Given the description of an element on the screen output the (x, y) to click on. 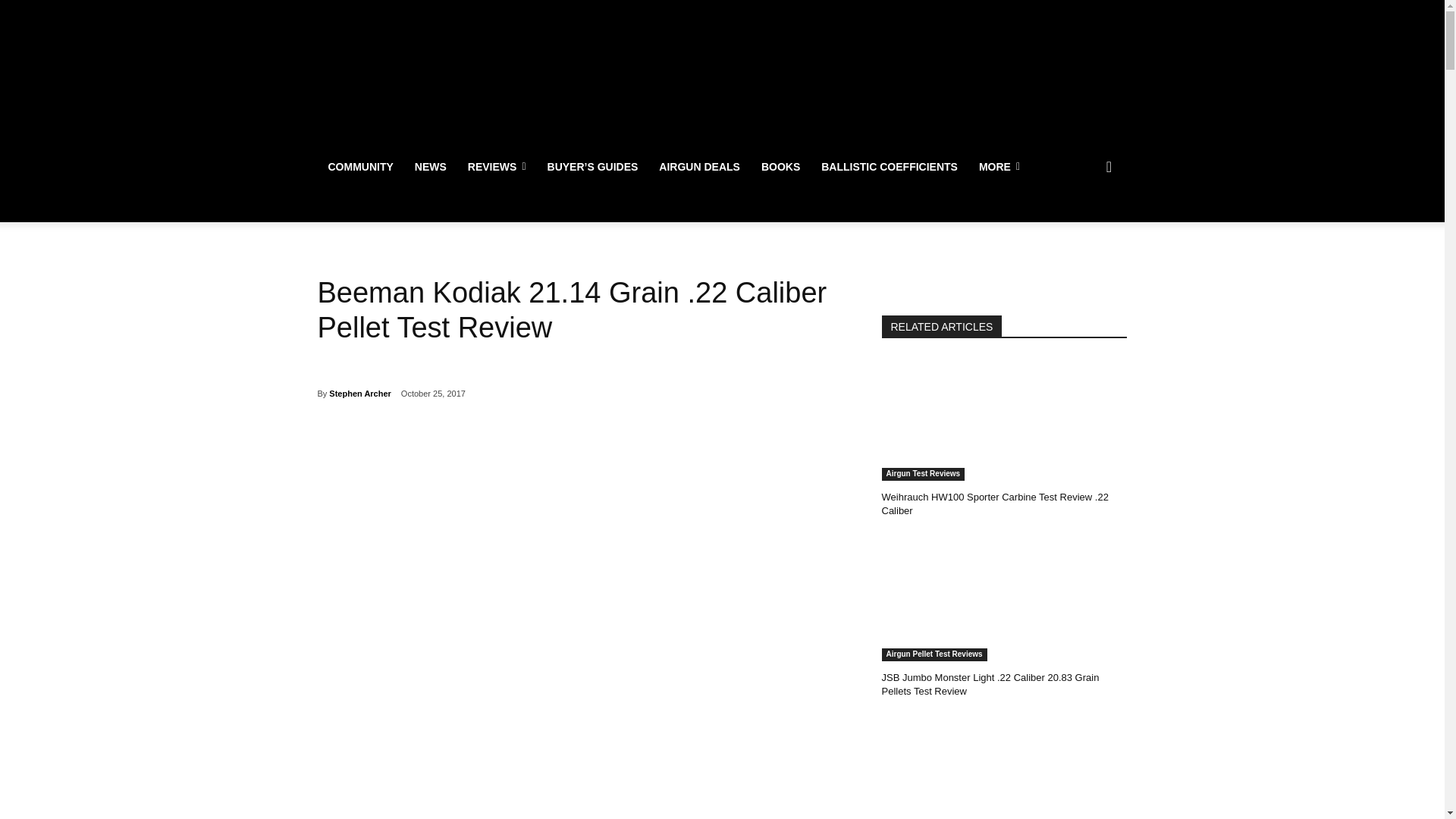
Weihrauch HW100 Sporter Carbine Test Review .22 Caliber (994, 503)
NEWS (430, 166)
Shooting The Western Airguns Rattler 45 PCP Air Rifle (1003, 768)
COMMUNITY (360, 166)
Weihrauch HW100 Sporter Carbine Test Review .22 Caliber (1003, 418)
